Given the description of an element on the screen output the (x, y) to click on. 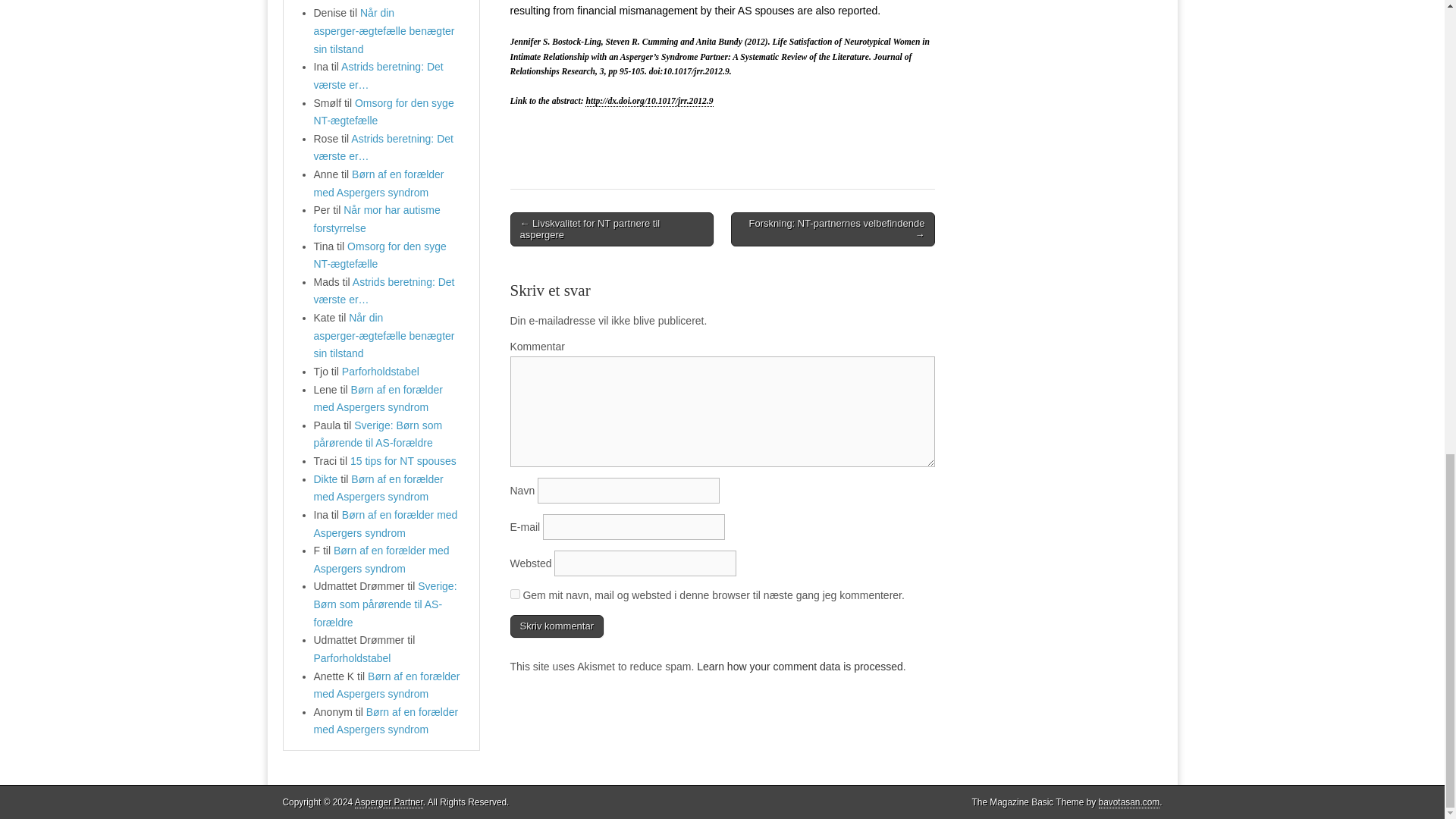
yes (514, 593)
Learn how your comment data is processed (799, 666)
Skriv kommentar (556, 626)
Skriv kommentar (556, 626)
